Given the description of an element on the screen output the (x, y) to click on. 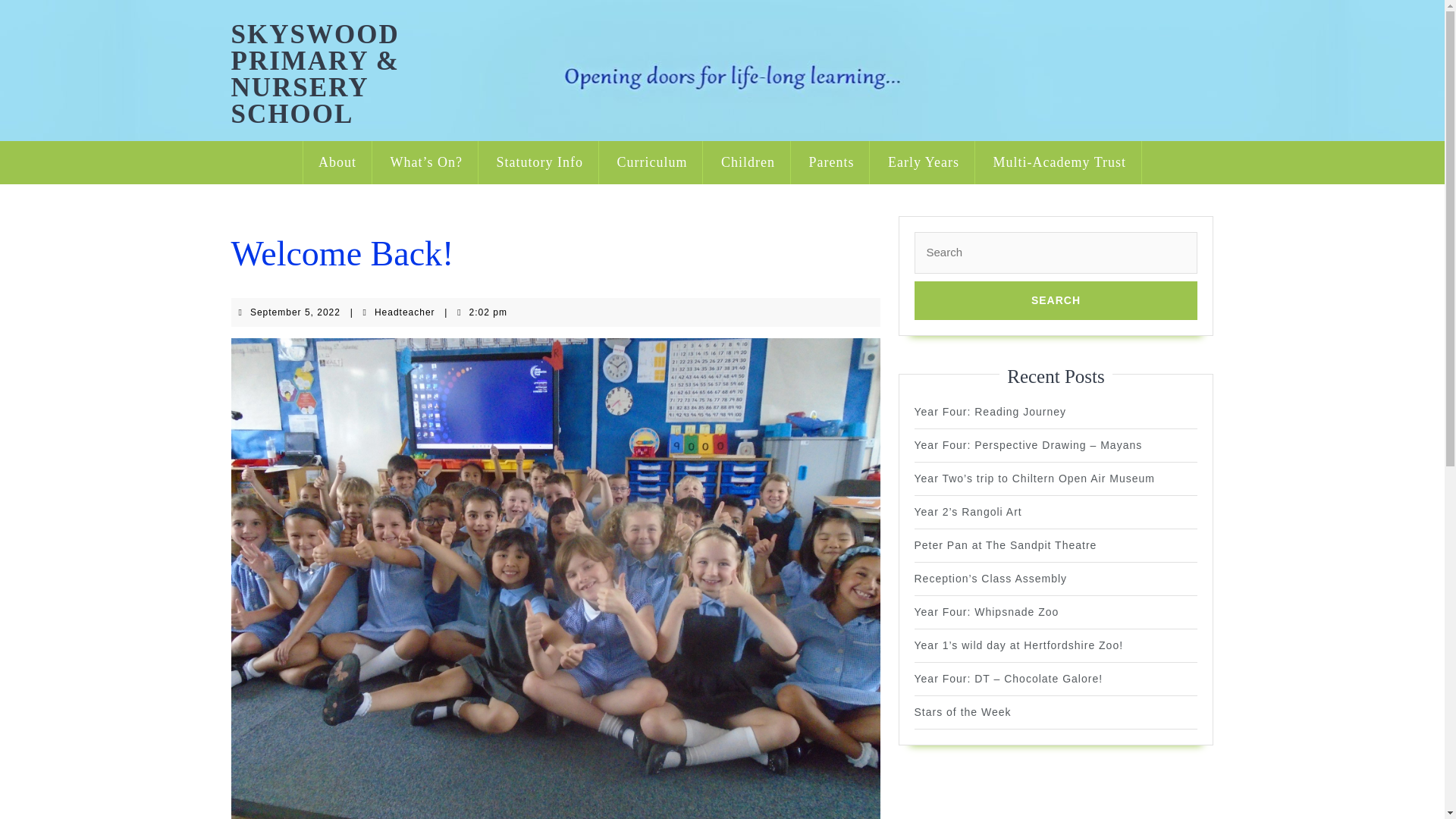
Curriculum (652, 162)
Statutory Info (539, 162)
About (337, 162)
Search (1056, 299)
Search (1056, 299)
